Given the description of an element on the screen output the (x, y) to click on. 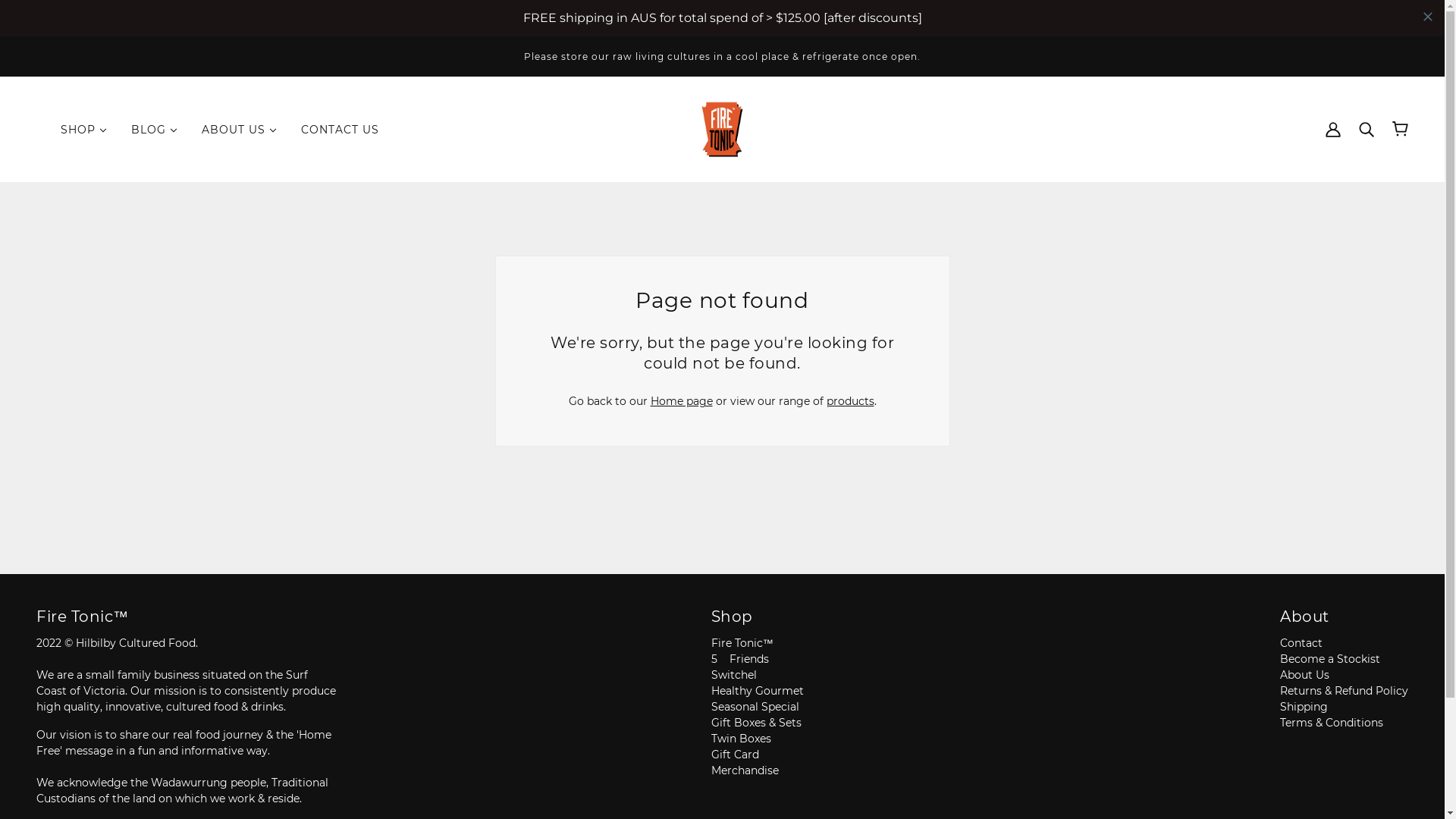
Switchel Element type: text (733, 638)
ABOUT US Element type: text (238, 92)
Gift Boxes & Sets Element type: text (756, 686)
BLOG Element type: text (154, 92)
About Us Element type: text (1304, 638)
Become a Stockist Element type: text (1330, 622)
CONTACT US Element type: text (339, 92)
SHOP Element type: text (83, 92)
Contact Element type: text (1301, 606)
Healthy Gourmet Element type: text (757, 654)
Terms & Conditions Element type: text (1331, 699)
Automizely Marketing popup bars Element type: hover (722, 18)
Gift Card Element type: text (735, 717)
Returns & Refund Policy Element type: text (1344, 655)
Seasonal Special Element type: text (755, 670)
/ Element type: hover (721, 127)
products Element type: text (850, 364)
Twin Boxes Element type: text (741, 702)
Merchandise Element type: text (744, 733)
Shipping Element type: text (1303, 673)
Home page Element type: text (681, 364)
